Given the description of an element on the screen output the (x, y) to click on. 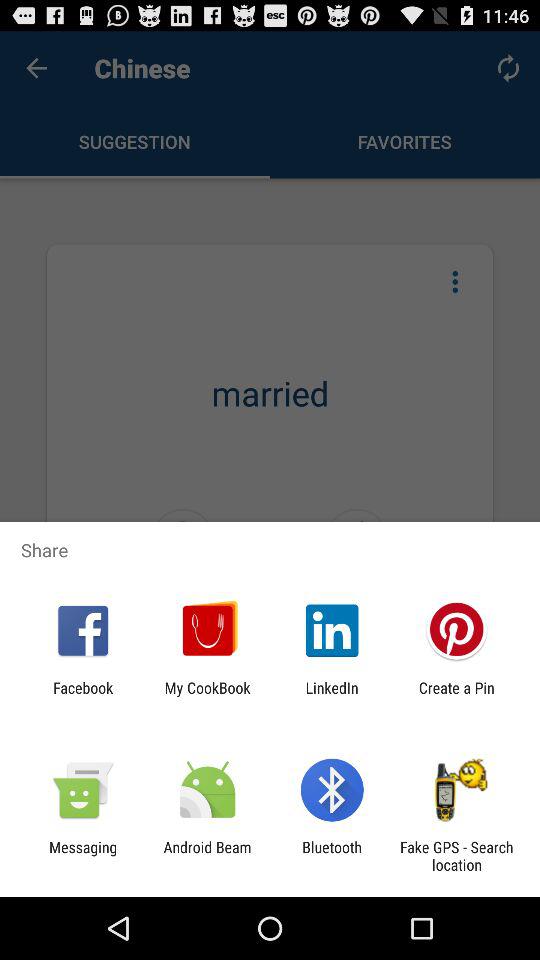
launch icon to the right of the facebook item (207, 696)
